Given the description of an element on the screen output the (x, y) to click on. 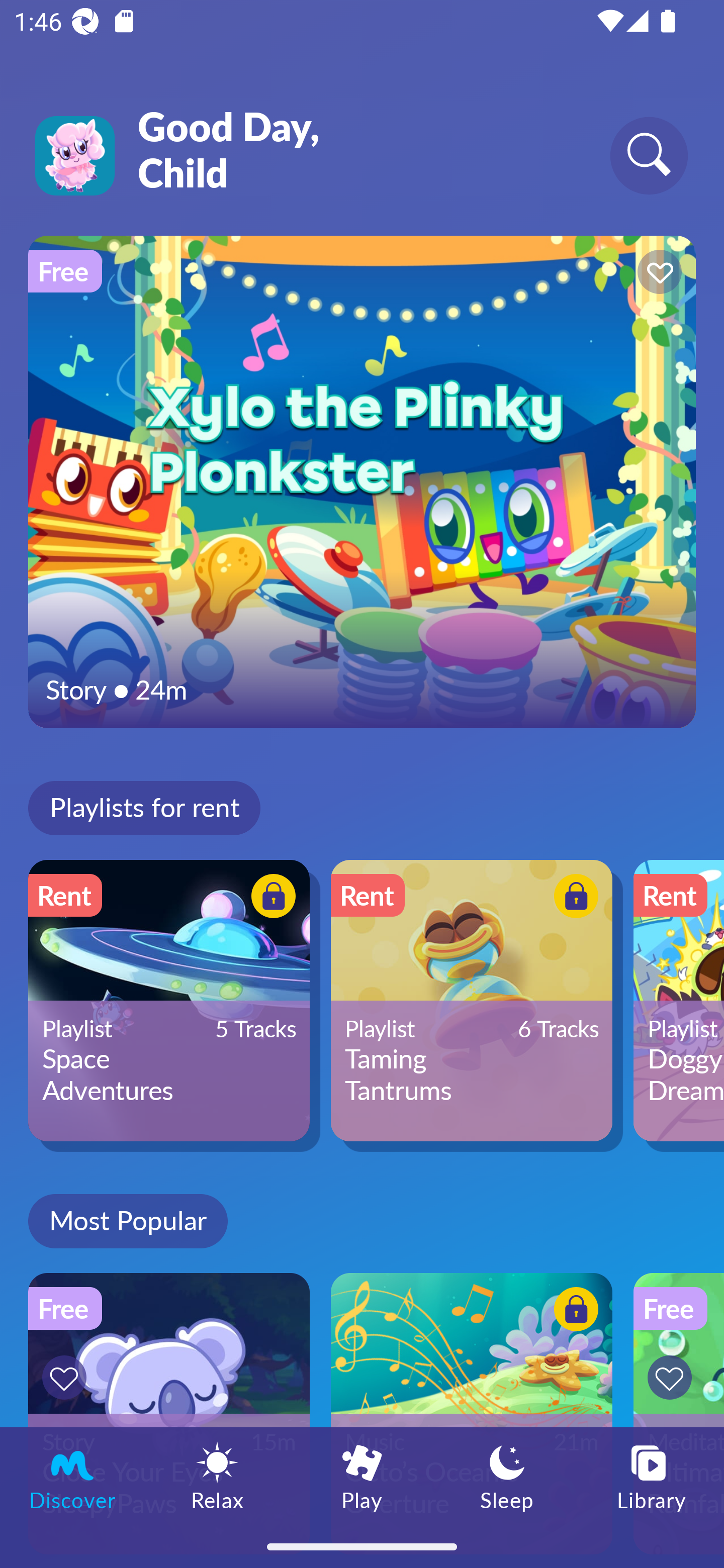
Search (648, 154)
Featured Content Free Button Story ● 24m (361, 481)
Button (656, 274)
Button (269, 898)
Button (573, 898)
Button (573, 1312)
Button (67, 1377)
Button (672, 1377)
Relax (216, 1475)
Play (361, 1475)
Sleep (506, 1475)
Library (651, 1475)
